Given the description of an element on the screen output the (x, y) to click on. 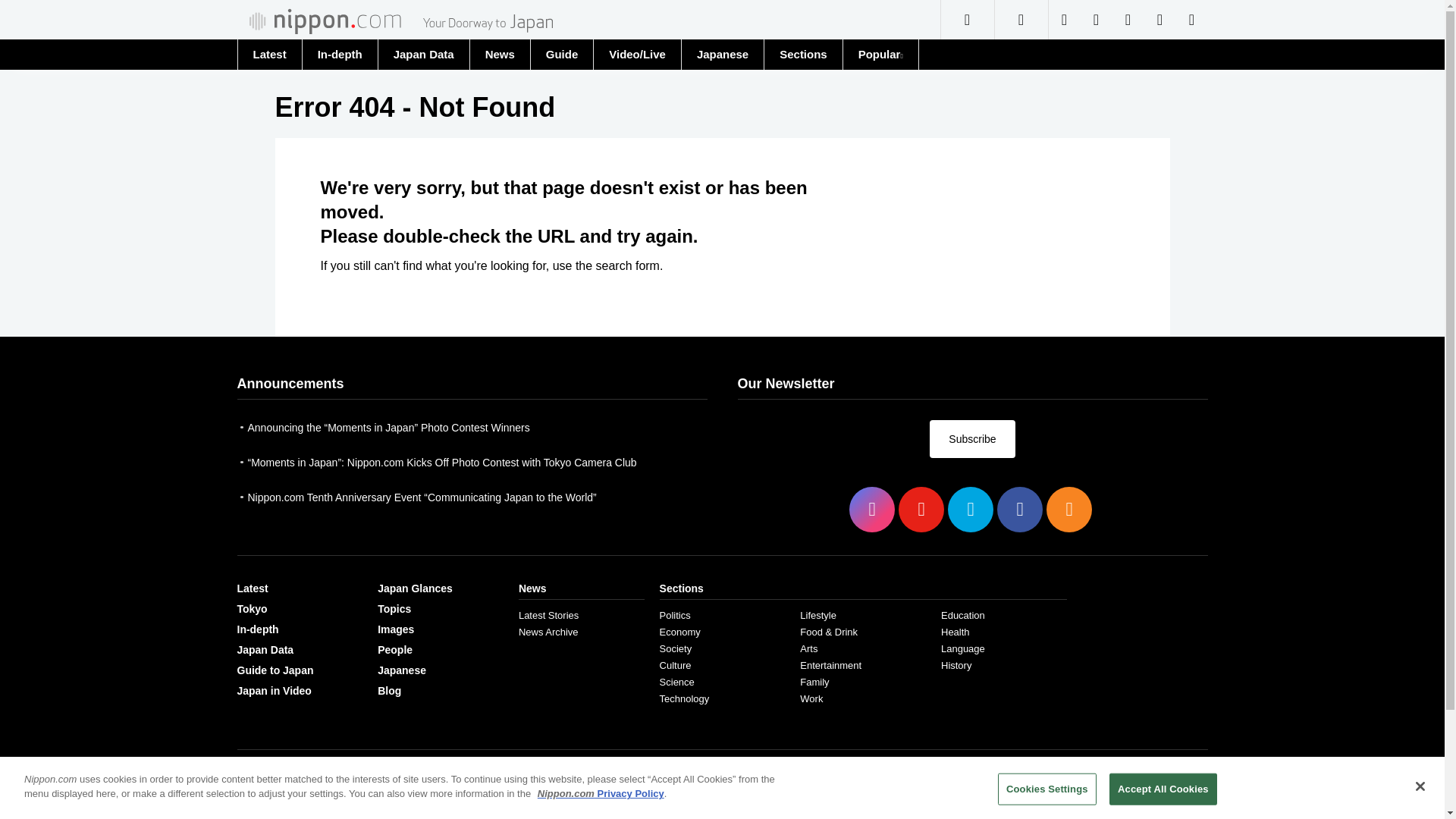
News (499, 53)
Guide (560, 54)
Japanese (721, 54)
Japan Data (422, 54)
Latest (268, 54)
In-depth (339, 54)
